Given the description of an element on the screen output the (x, y) to click on. 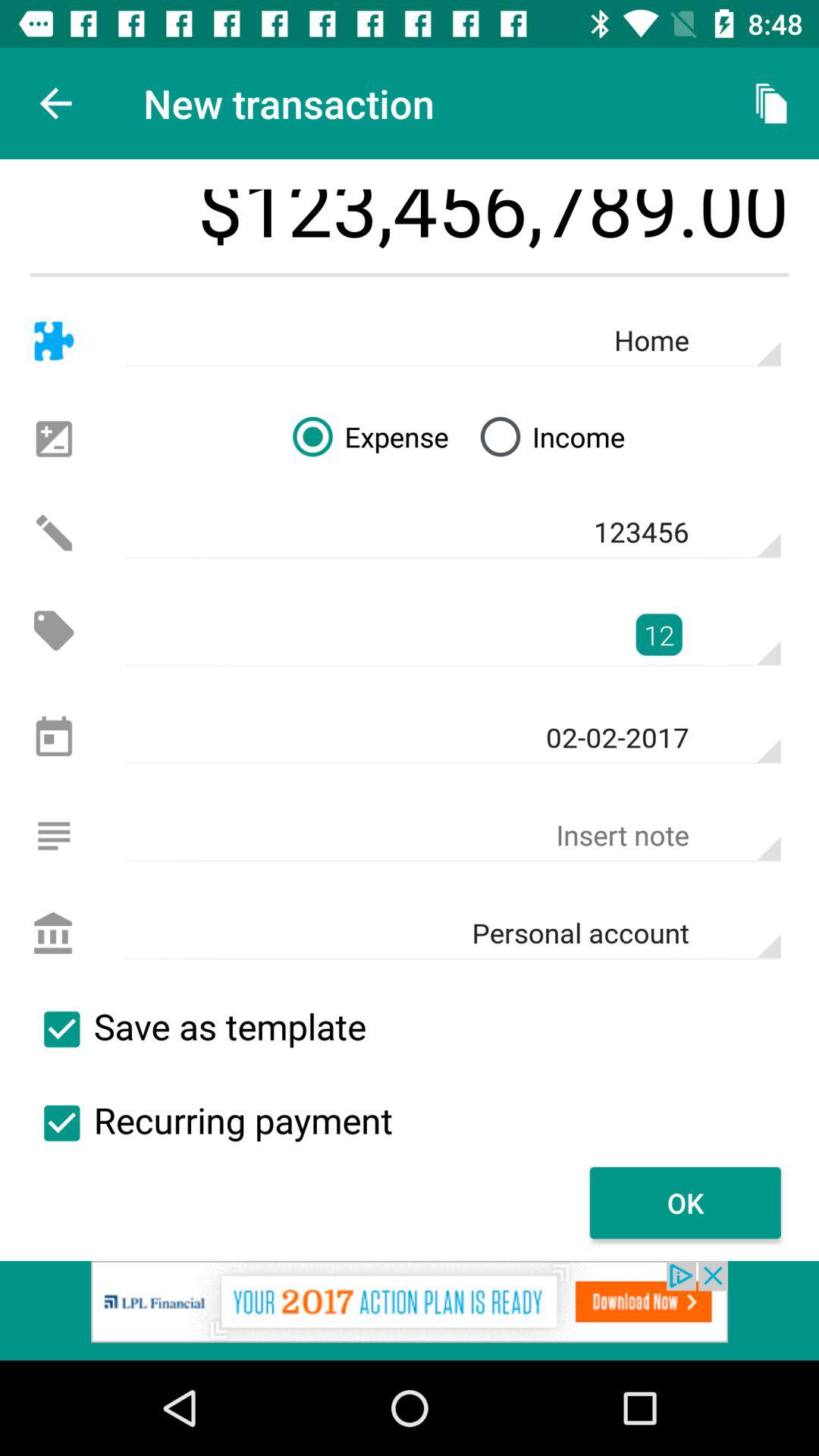
home (53, 341)
